Given the description of an element on the screen output the (x, y) to click on. 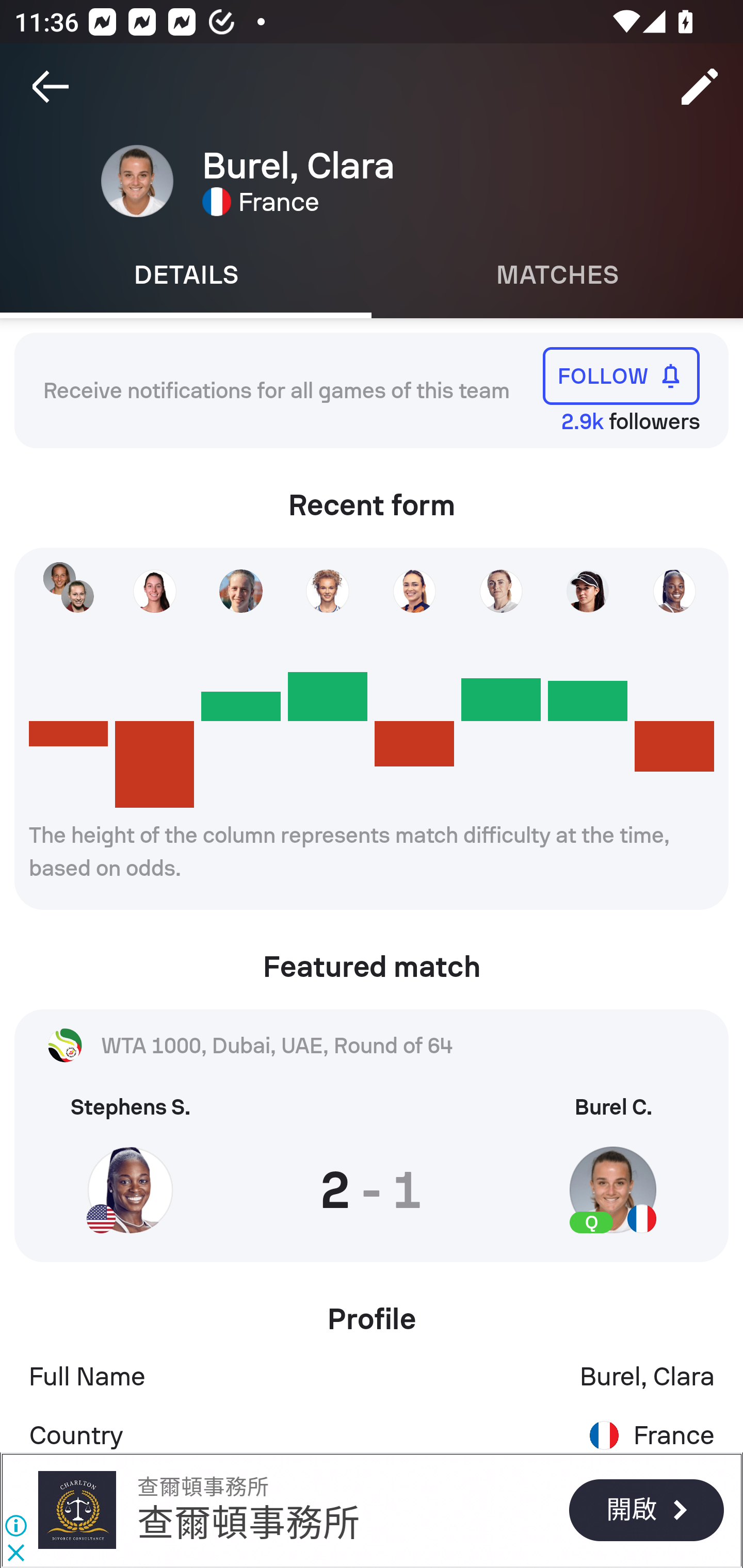
Navigate up (50, 86)
Edit (699, 86)
Matches MATCHES (557, 275)
FOLLOW (621, 375)
查爾頓事務所 (76, 1509)
查爾頓事務所 (201, 1486)
開啟 (645, 1509)
查爾頓事務所 (248, 1523)
